Given the description of an element on the screen output the (x, y) to click on. 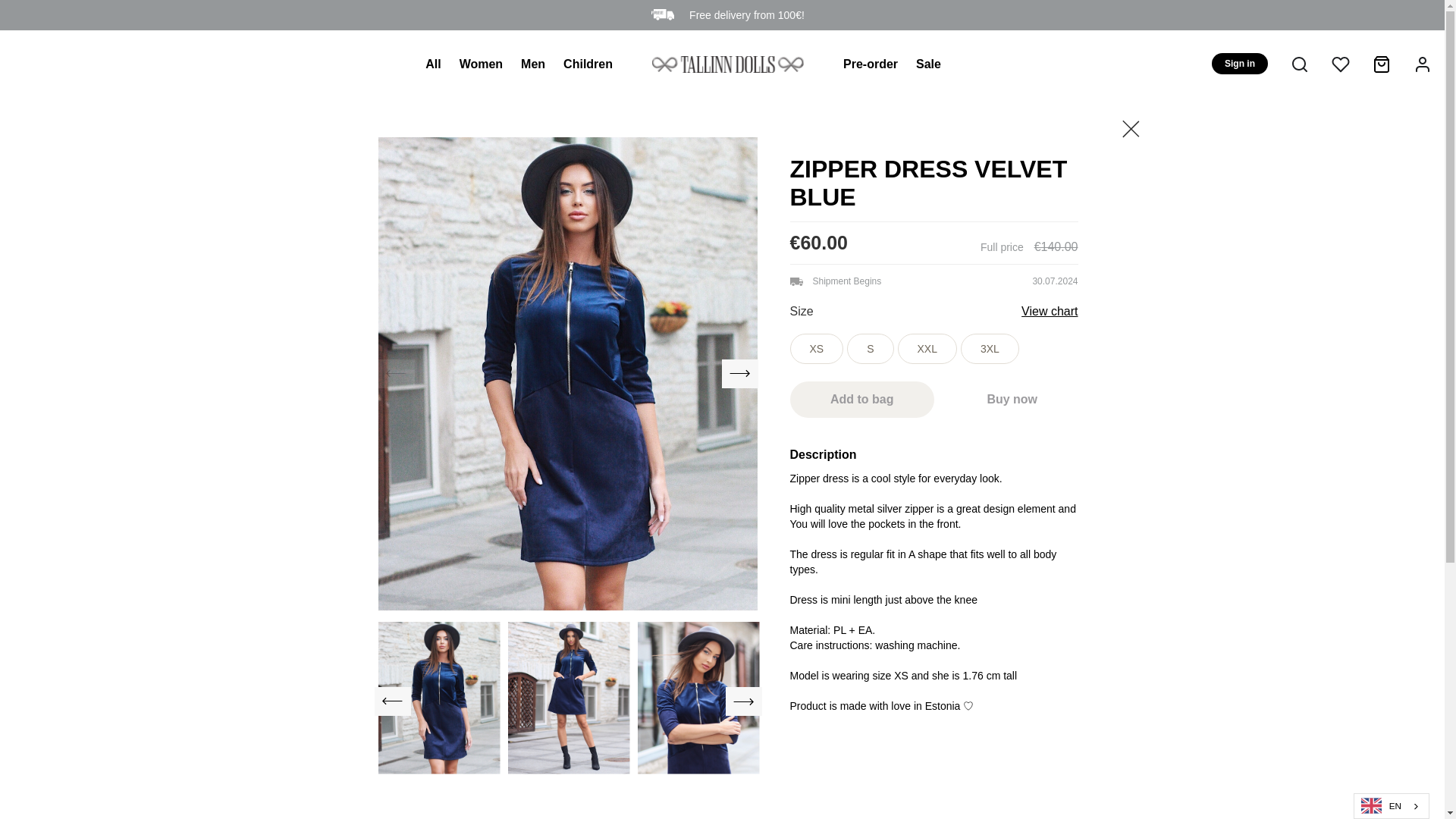
Previous (392, 701)
Next (740, 373)
Next (743, 701)
View chart (1049, 311)
Men (532, 64)
Add to bag (862, 399)
Pre-order (870, 64)
Previous (395, 373)
Sign in (1239, 63)
Sign in to manage wishlist (1337, 64)
All (433, 64)
Women (481, 64)
Sale (927, 64)
Children (587, 64)
